Given the description of an element on the screen output the (x, y) to click on. 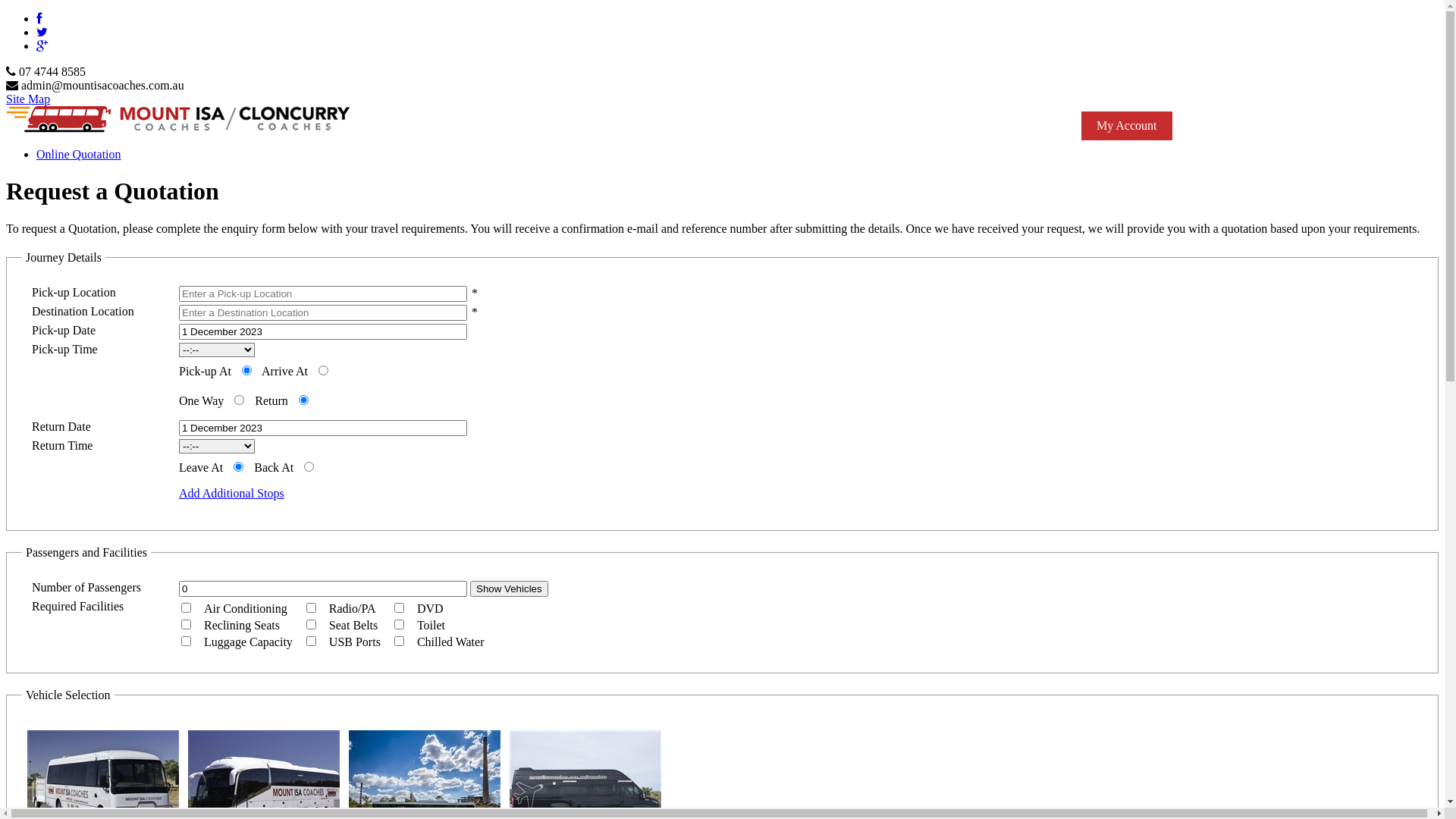
Online Quotation Element type: text (78, 153)
Show Vehicles Element type: text (509, 588)
My Account Element type: text (1126, 125)
Mount Isa Coaches Pty Ltd | Tel: 07 4744 8585 Element type: hover (178, 119)
Add Additional Stops Element type: text (231, 492)
Site Map Element type: text (28, 98)
